Given the description of an element on the screen output the (x, y) to click on. 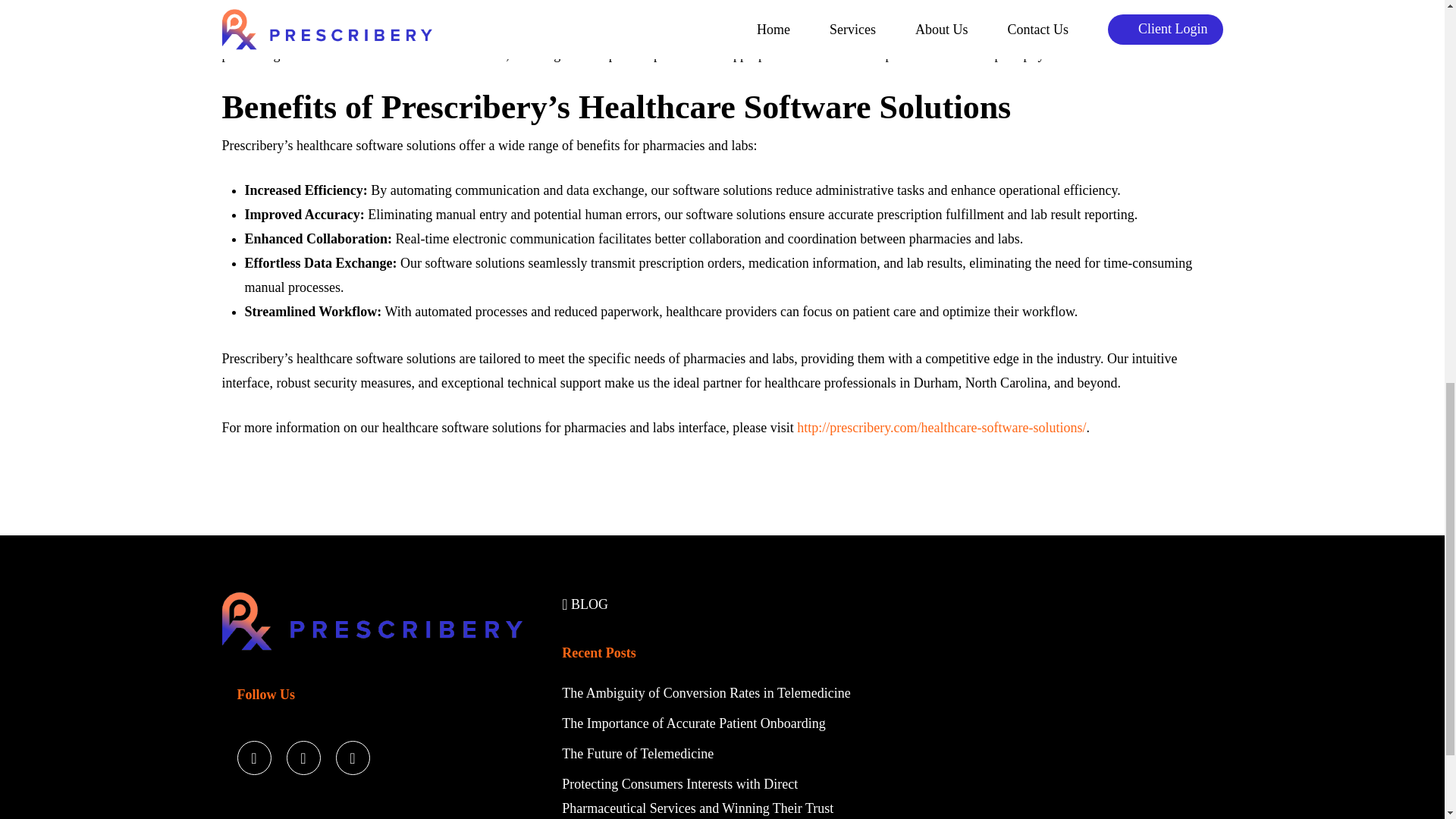
facebook (303, 754)
The Importance of Accurate Patient Onboarding (693, 723)
LinkedIn (351, 754)
The Future of Telemedicine (637, 753)
BLOG (585, 604)
The Ambiguity of Conversion Rates in Telemedicine  (707, 693)
twitter (252, 754)
